Given the description of an element on the screen output the (x, y) to click on. 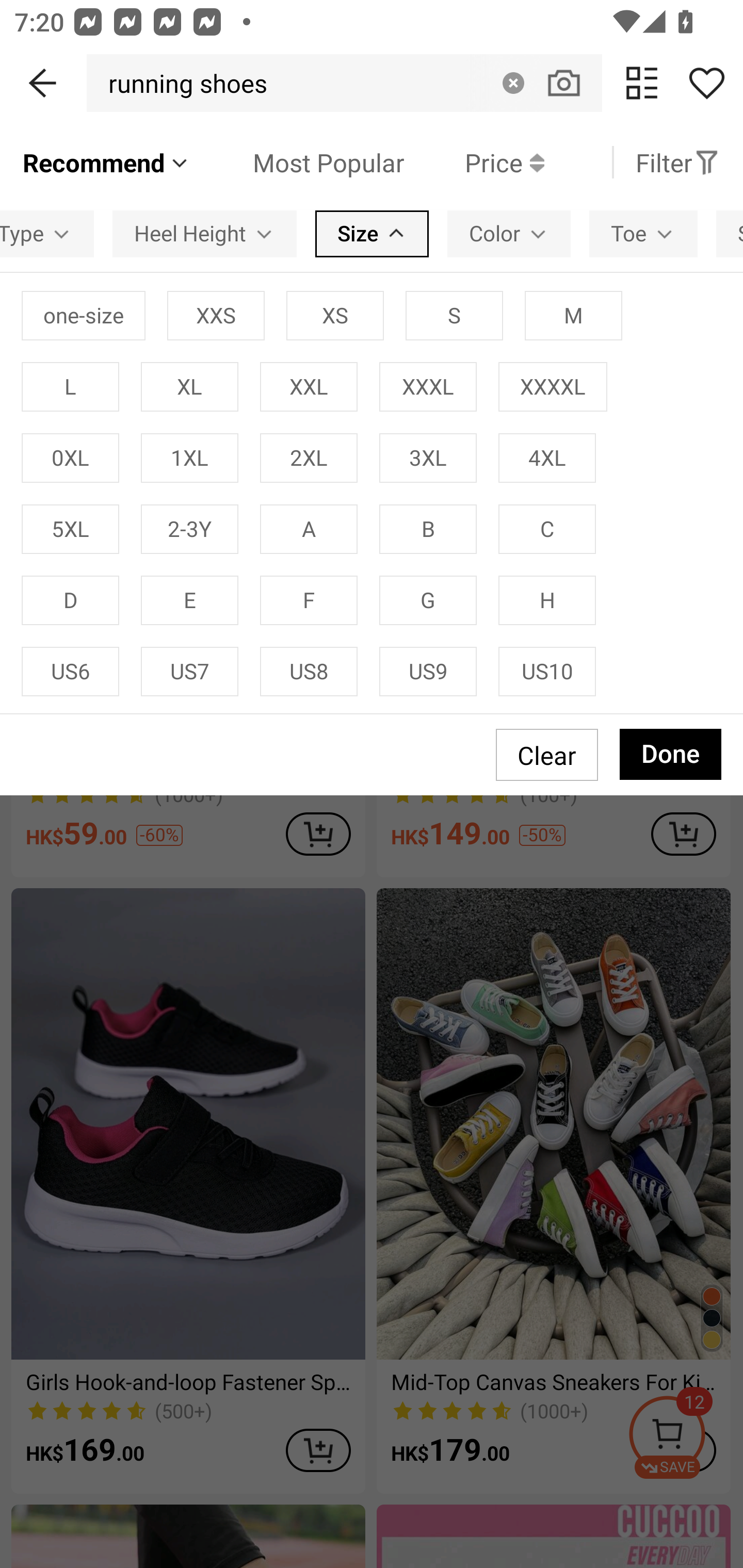
running shoes Clear (343, 82)
running shoes (181, 82)
Clear (513, 82)
change view (641, 82)
Share (706, 82)
Recommend (106, 162)
Most Popular (297, 162)
Price (474, 162)
Filter (677, 162)
Type (46, 233)
Heel Height (204, 233)
Size (371, 233)
Color (508, 233)
Toe (643, 233)
